Given the description of an element on the screen output the (x, y) to click on. 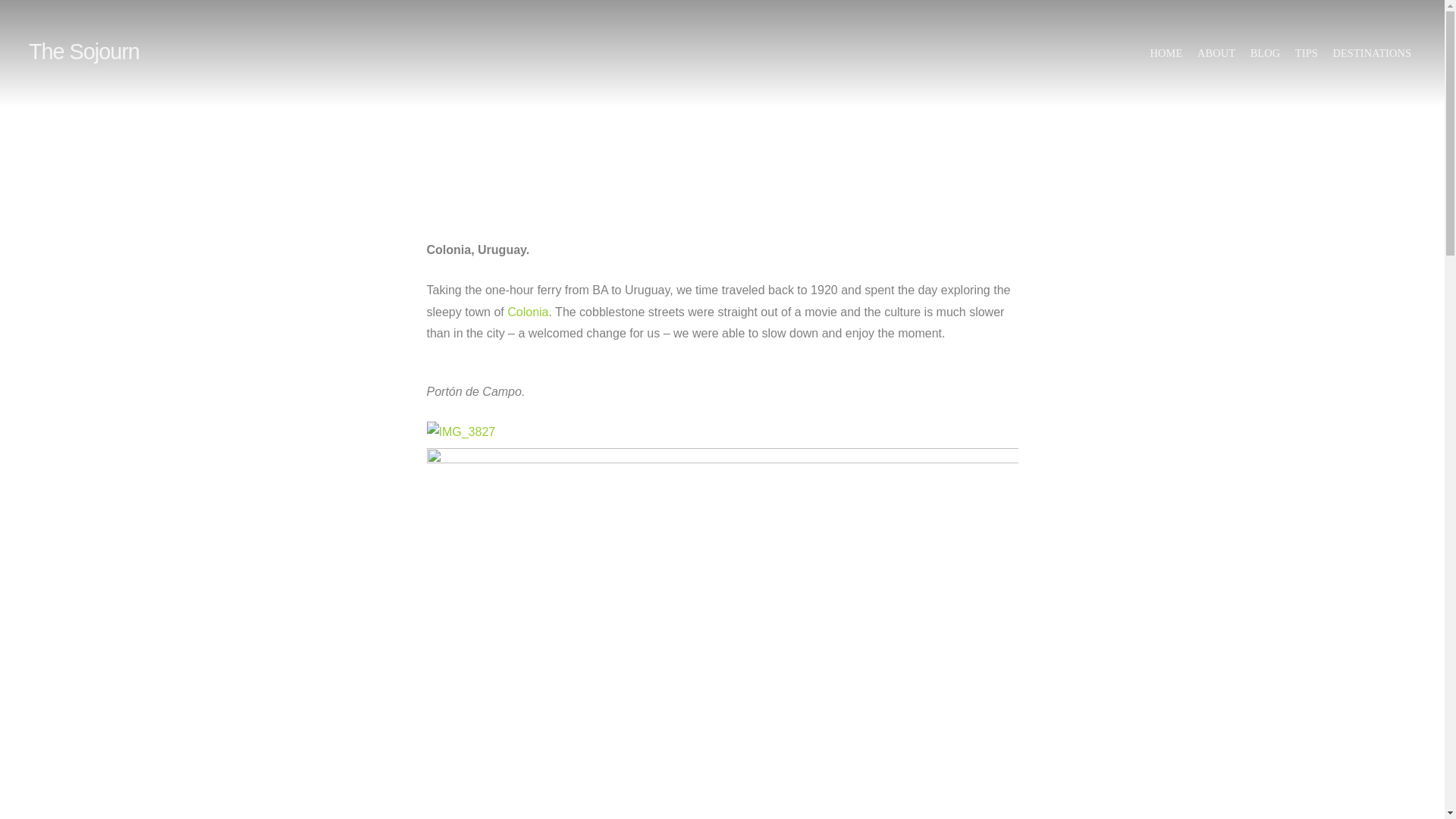
Colonia (527, 311)
The Sojourn (84, 51)
Colonia (527, 311)
